Given the description of an element on the screen output the (x, y) to click on. 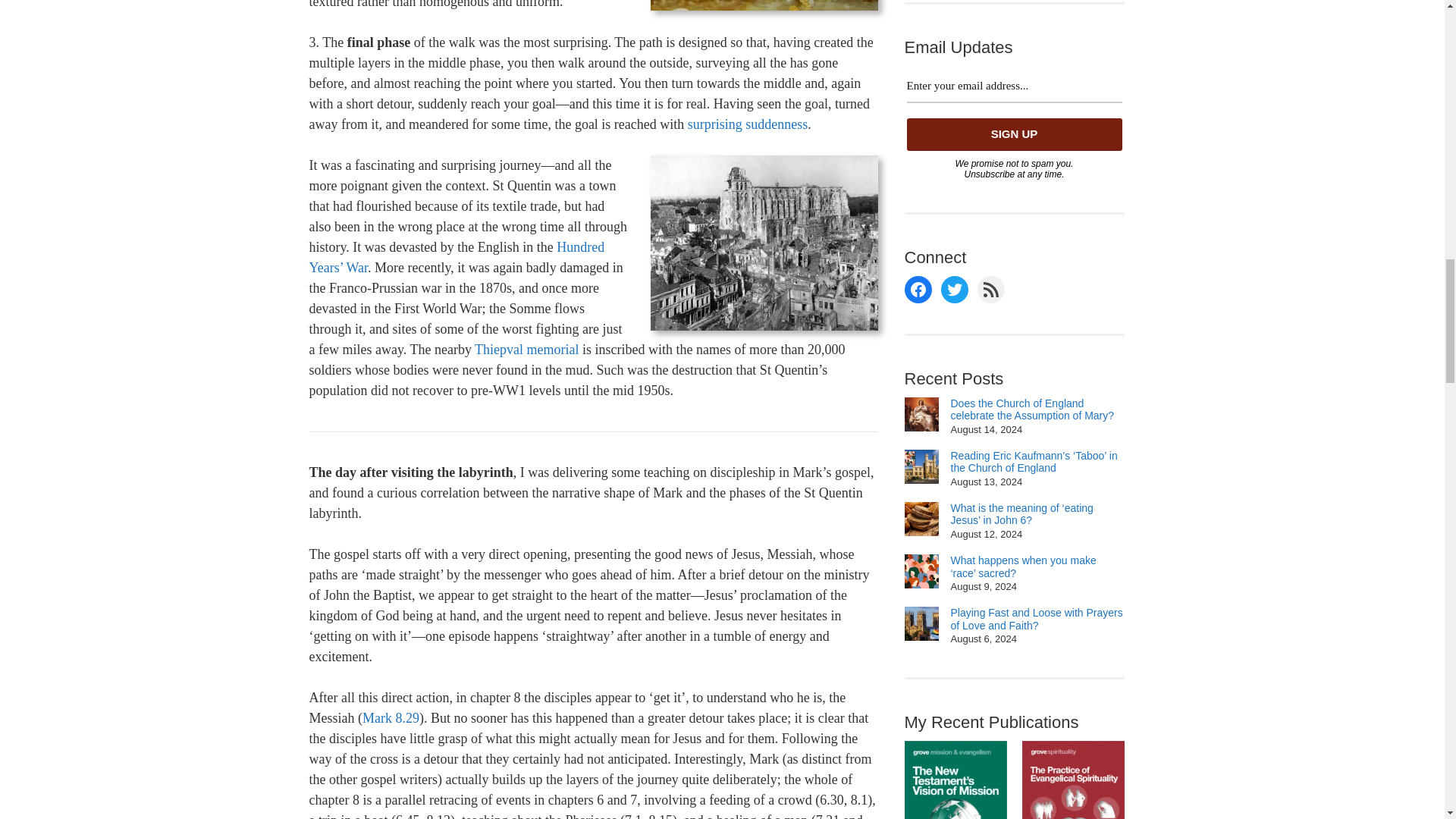
Sign Up (1014, 133)
Mark 8.29 (390, 717)
surprising suddenness (747, 124)
Thiepval memorial (526, 349)
